Given the description of an element on the screen output the (x, y) to click on. 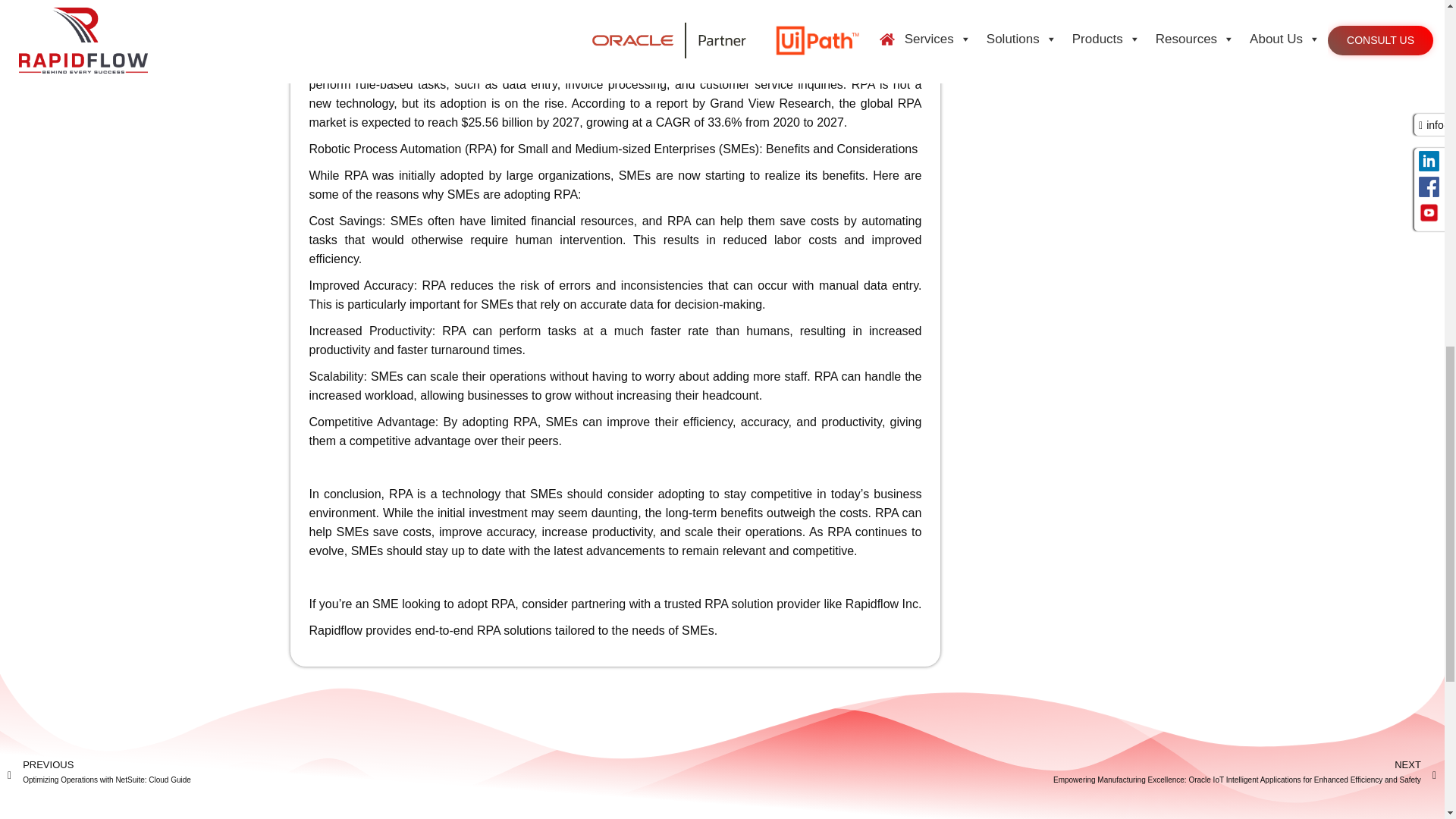
Rapidflow Inc (881, 603)
